Given the description of an element on the screen output the (x, y) to click on. 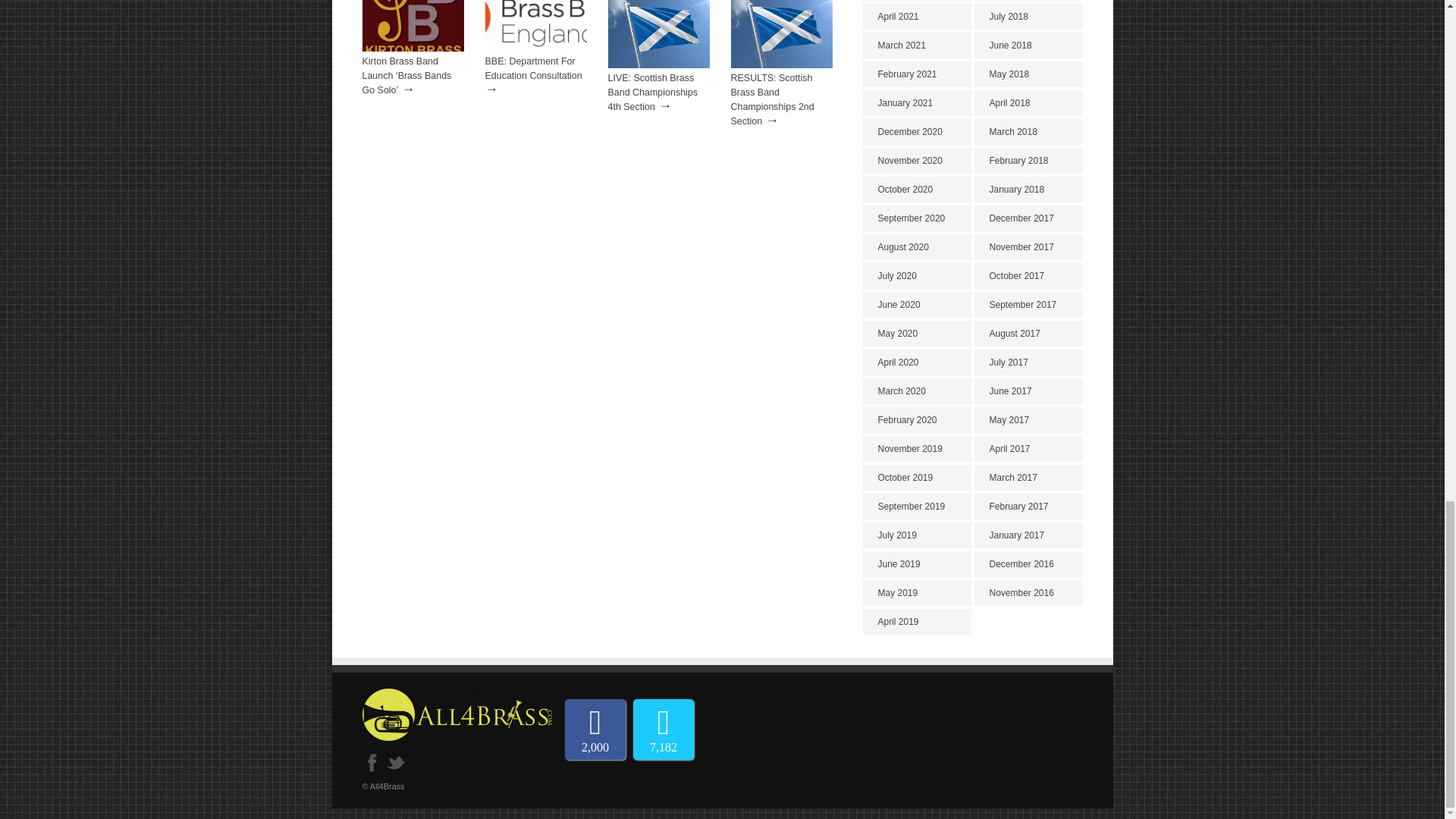
LIVE: Scottish Brass Band Championships 4th Section (653, 92)
BBE: Department For Education Consultation (533, 68)
LIVE: Scottish Brass Band Championships 4th Section (659, 64)
RESULTS: Scottish Brass Band Championships 2nd Section (781, 64)
LIVE: Scottish Brass Band Championships 4th Section (653, 92)
RESULTS: Scottish Brass Band Championships 2nd Section (771, 99)
RESULTS: Scottish Brass Band Championships 2nd Section (771, 99)
BBE: Department For Education Consultation (535, 48)
BBE: Department For Education Consultation (533, 68)
